Given the description of an element on the screen output the (x, y) to click on. 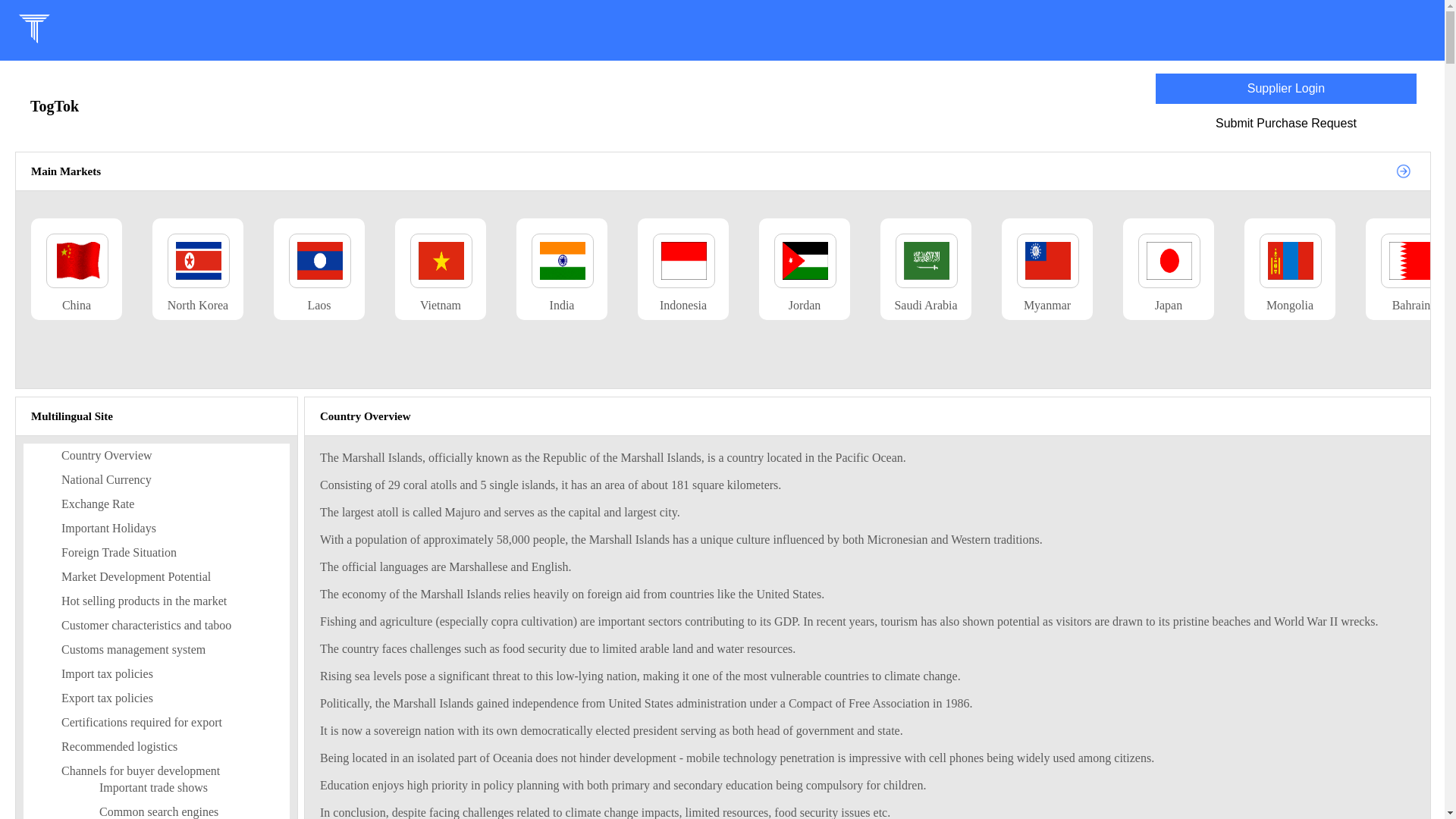
Submit Purchase Request (1286, 123)
Supplier Login (1286, 88)
Supplier Login (1285, 88)
Submit Purchase Request (1285, 123)
